Given the description of an element on the screen output the (x, y) to click on. 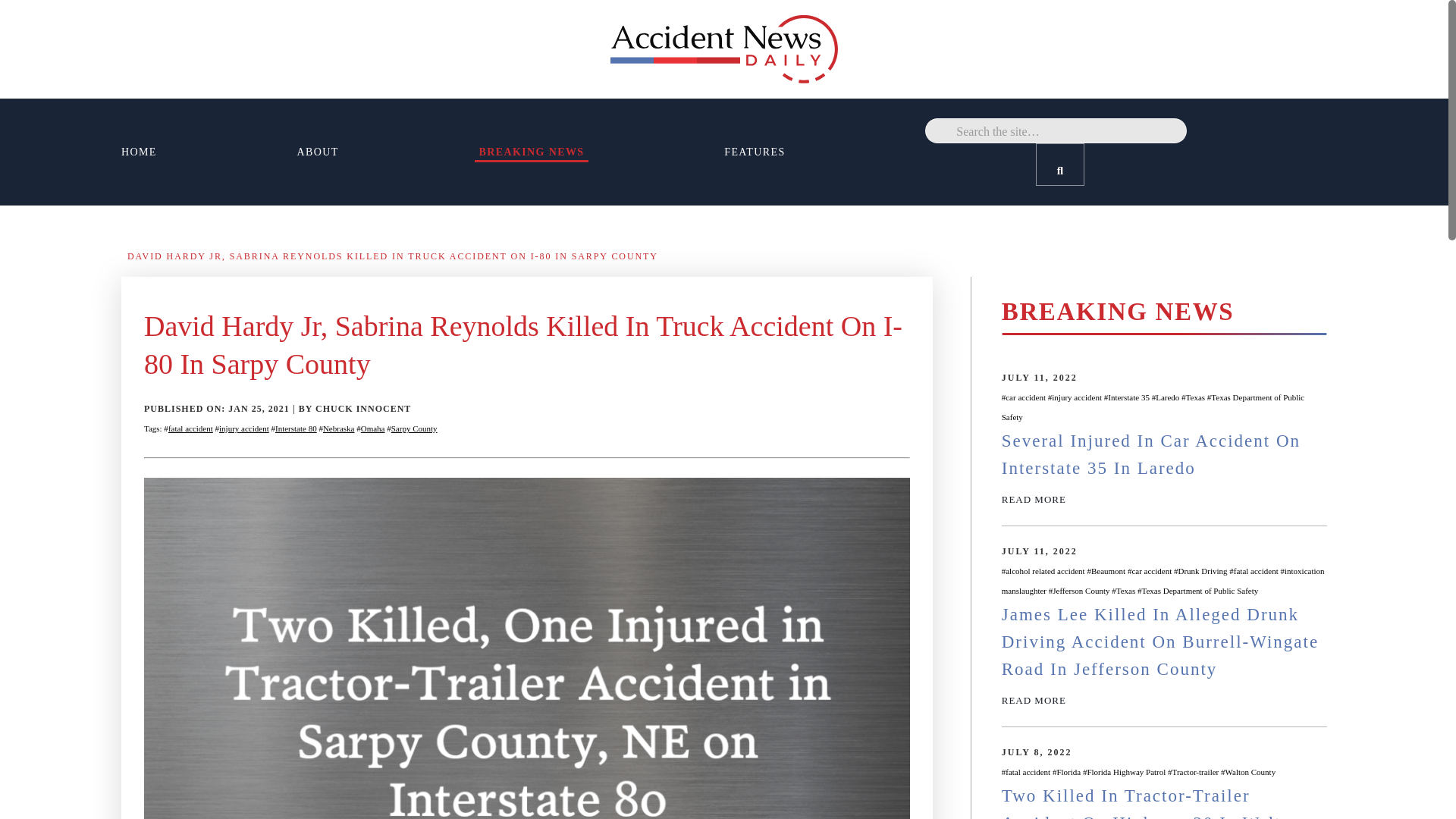
Texas (1125, 590)
Drunk Driving (1202, 570)
Texas (1195, 397)
car accident (1151, 570)
alcohol related accident (1045, 570)
fatal accident (1255, 570)
intoxication manslaughter (1162, 580)
Several Injured In Car Accident On Interstate 35 In Laredo (1150, 454)
